Given the description of an element on the screen output the (x, y) to click on. 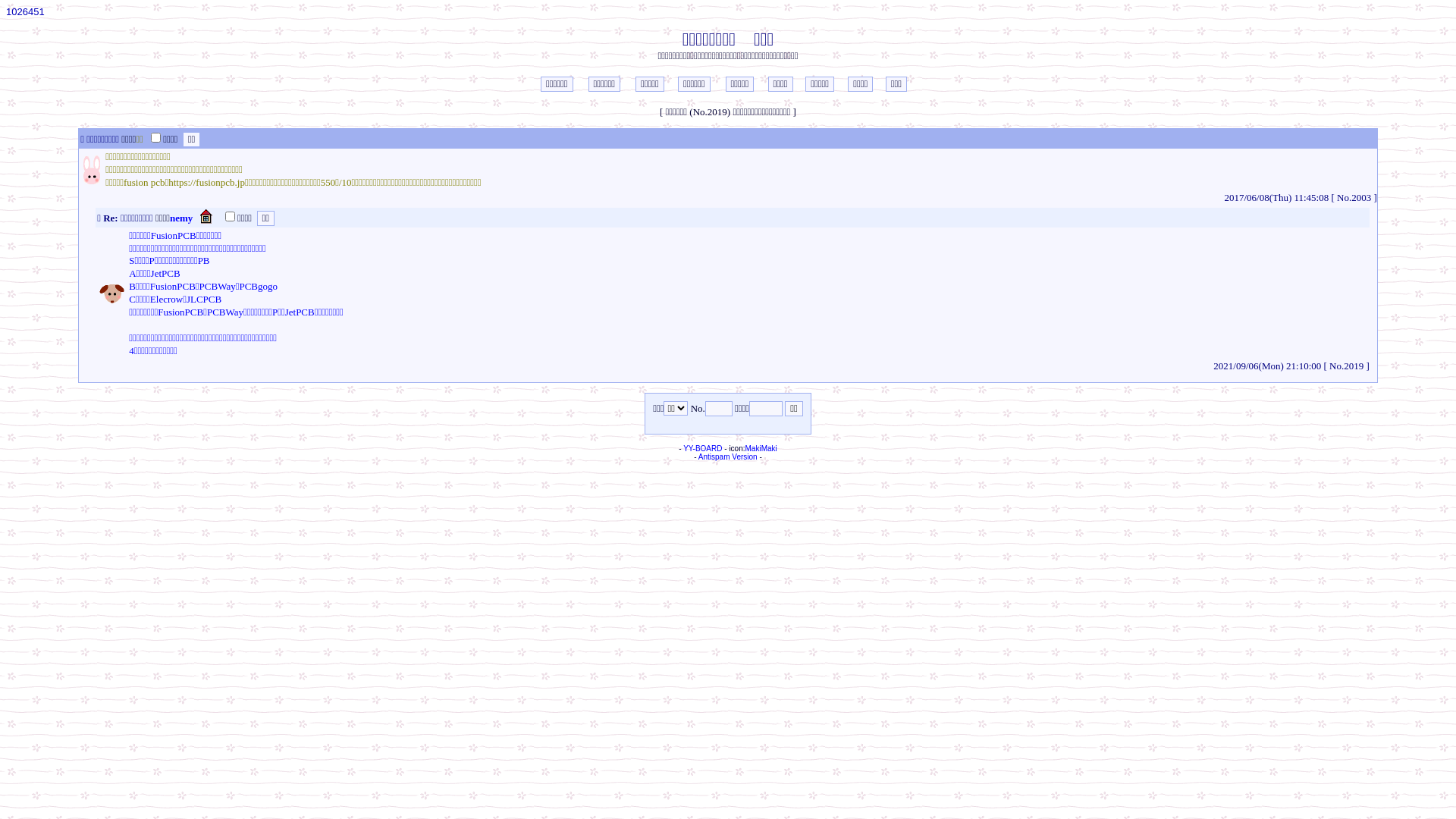
Antispam Version Element type: text (727, 456)
MakiMaki Element type: text (761, 448)
YY-BOARD Element type: text (702, 448)
